Given the description of an element on the screen output the (x, y) to click on. 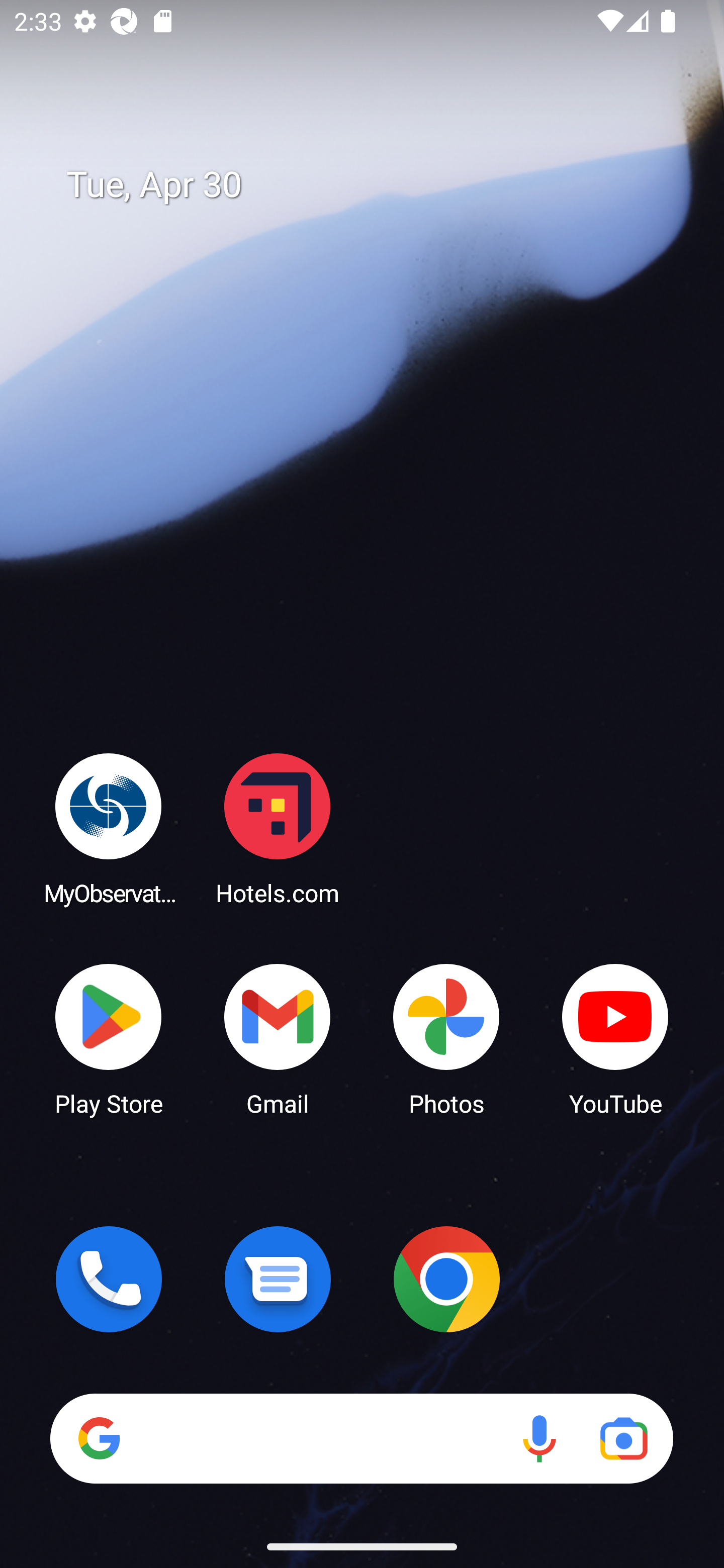
Tue, Apr 30 (375, 184)
MyObservatory (108, 828)
Hotels.com (277, 828)
Play Store (108, 1038)
Gmail (277, 1038)
Photos (445, 1038)
YouTube (615, 1038)
Phone (108, 1279)
Messages (277, 1279)
Chrome (446, 1279)
Voice search (539, 1438)
Google Lens (623, 1438)
